Given the description of an element on the screen output the (x, y) to click on. 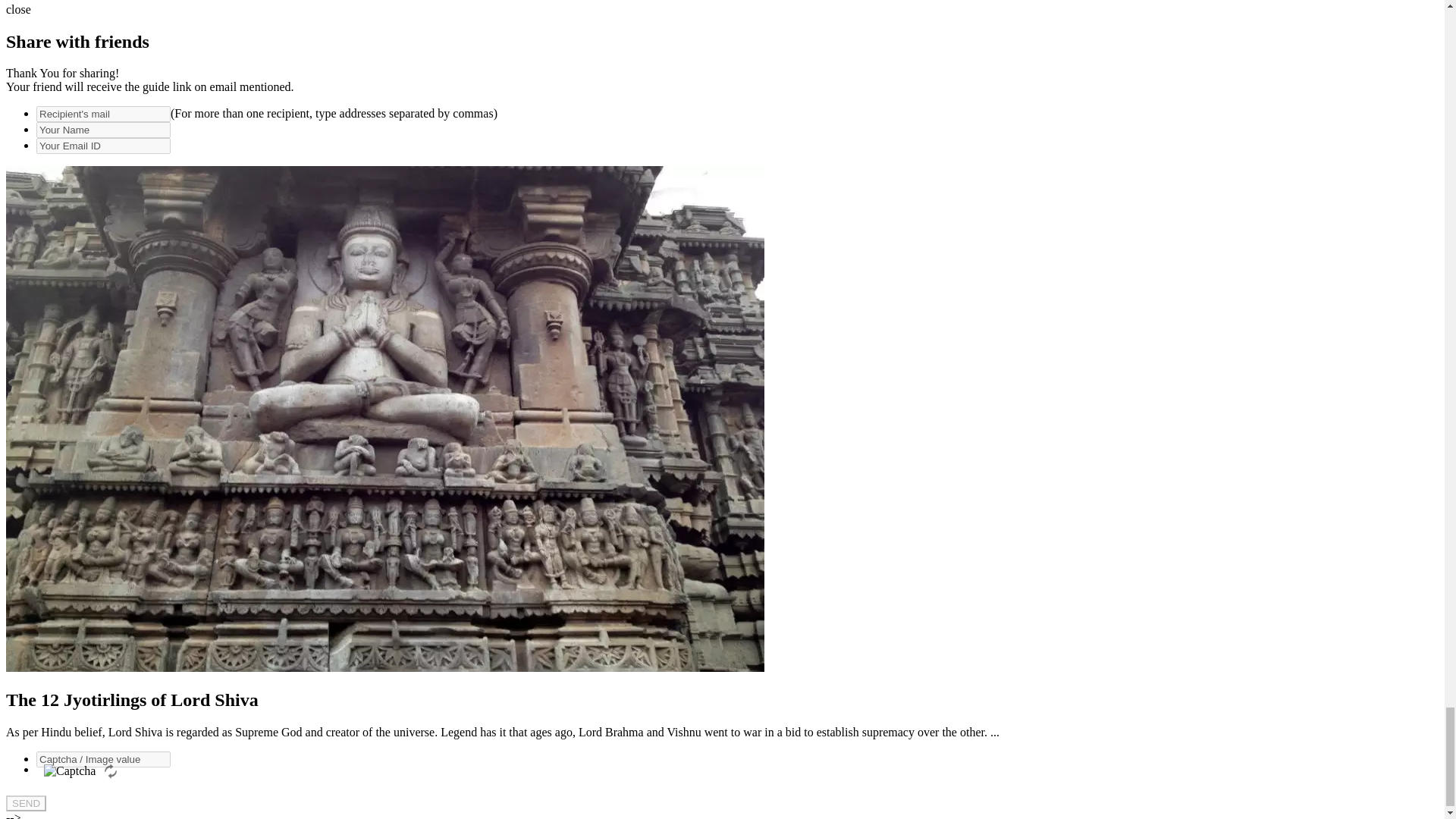
Your Email ID (103, 145)
Your Name (103, 130)
Recipient's mail (103, 114)
Captcha (69, 771)
SEND (25, 803)
